Given the description of an element on the screen output the (x, y) to click on. 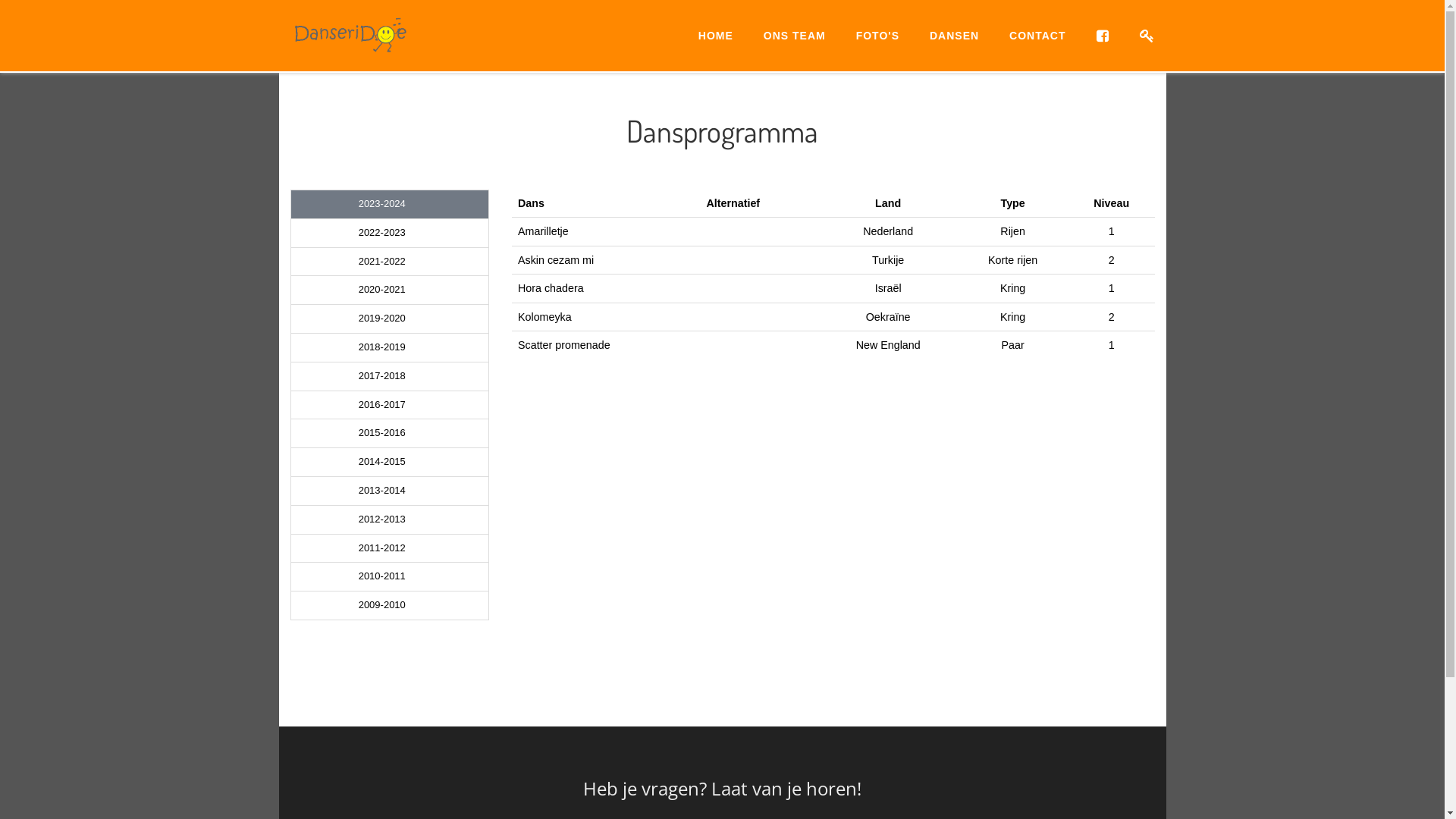
2016-2017 Element type: text (390, 405)
2023-2024 Element type: text (390, 204)
2017-2018 Element type: text (390, 376)
2009-2010 Element type: text (390, 605)
2019-2020 Element type: text (390, 318)
2010-2011 Element type: text (390, 576)
2011-2012 Element type: text (390, 548)
2014-2015 Element type: text (390, 462)
CONTACT Element type: text (1037, 35)
ONS TEAM Element type: text (794, 35)
DANSEN Element type: text (954, 35)
2012-2013 Element type: text (390, 519)
2015-2016 Element type: text (390, 433)
2020-2021 Element type: text (390, 290)
2013-2014 Element type: text (390, 490)
2021-2022 Element type: text (390, 261)
FOTO'S Element type: text (877, 35)
2022-2023 Element type: text (390, 233)
HOME Element type: text (715, 35)
2018-2019 Element type: text (390, 347)
